Given the description of an element on the screen output the (x, y) to click on. 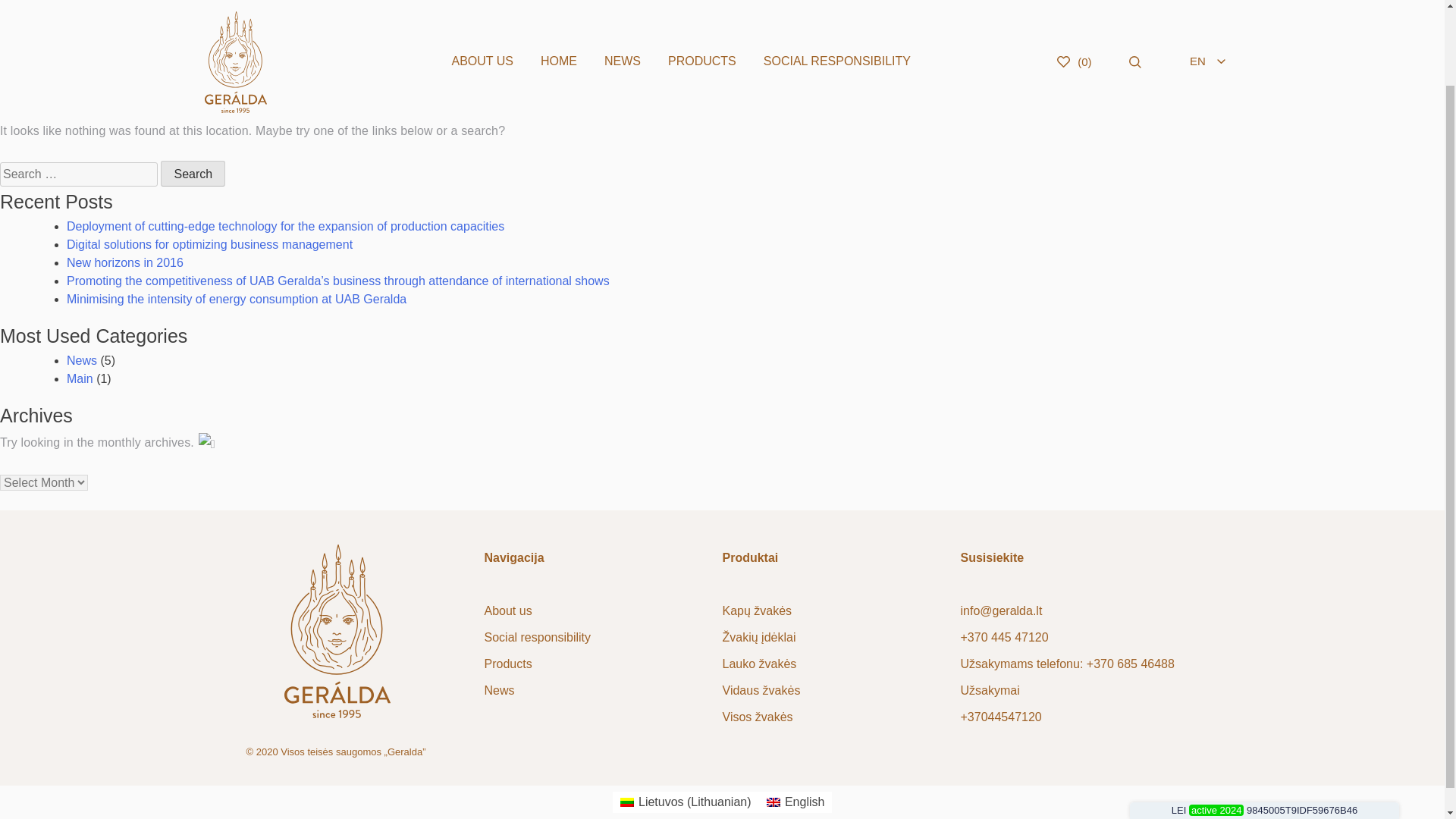
Search (192, 173)
New horizons in 2016 (124, 262)
HOME (559, 18)
SOCIAL RESPONSIBILITY (836, 18)
PRODUCTS (701, 18)
Search (192, 173)
Search (192, 173)
About us (507, 610)
NEWS (622, 18)
